Given the description of an element on the screen output the (x, y) to click on. 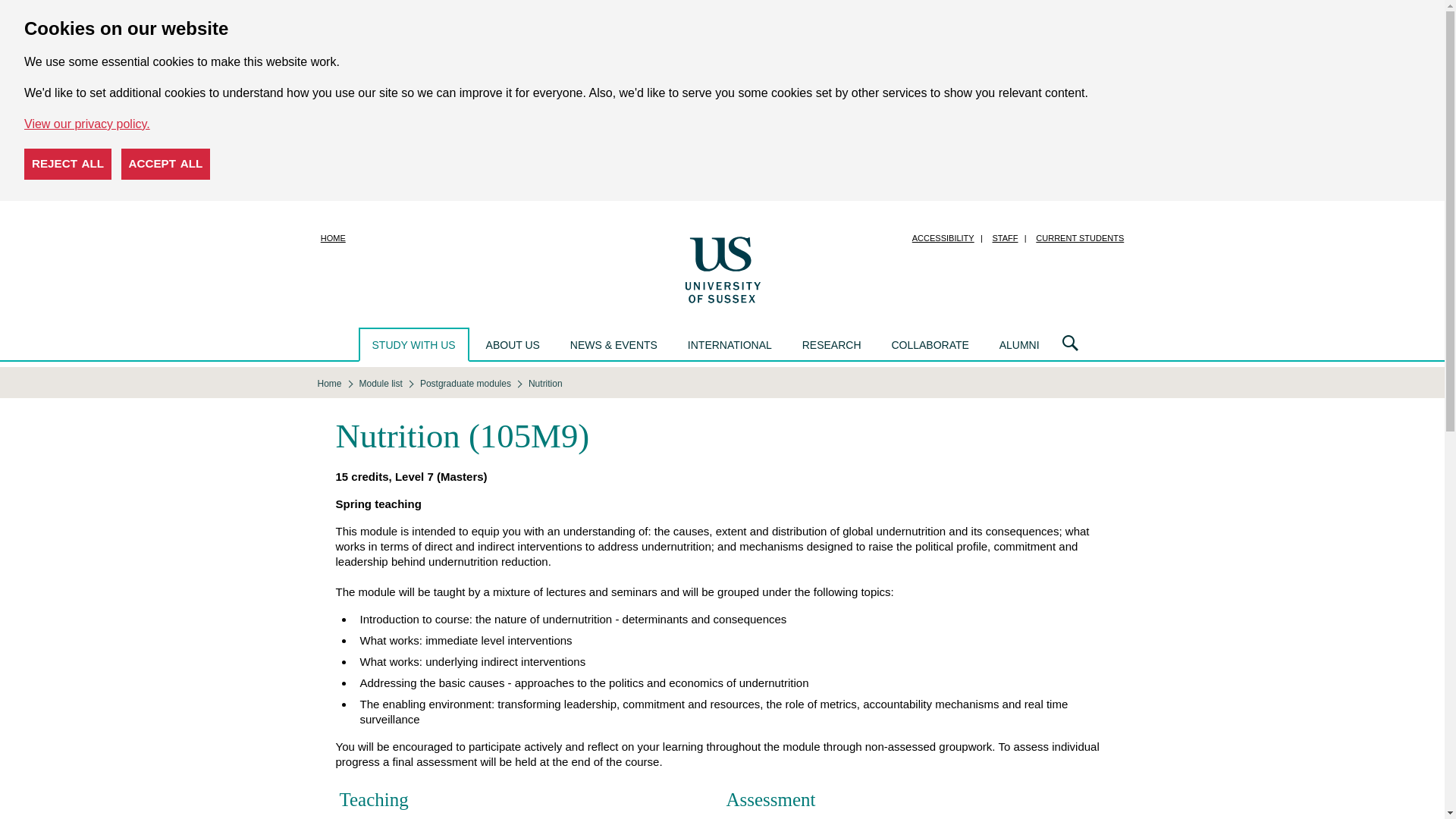
ACCESSIBILITY (942, 238)
STAFF (1005, 238)
Search (1070, 343)
HOME (333, 238)
ACCEPT ALL (165, 163)
CURRENT STUDENTS (1079, 238)
REJECT ALL (68, 163)
University of Sussex (722, 268)
STUDY WITH US (413, 344)
View our privacy policy. (86, 123)
